Given the description of an element on the screen output the (x, y) to click on. 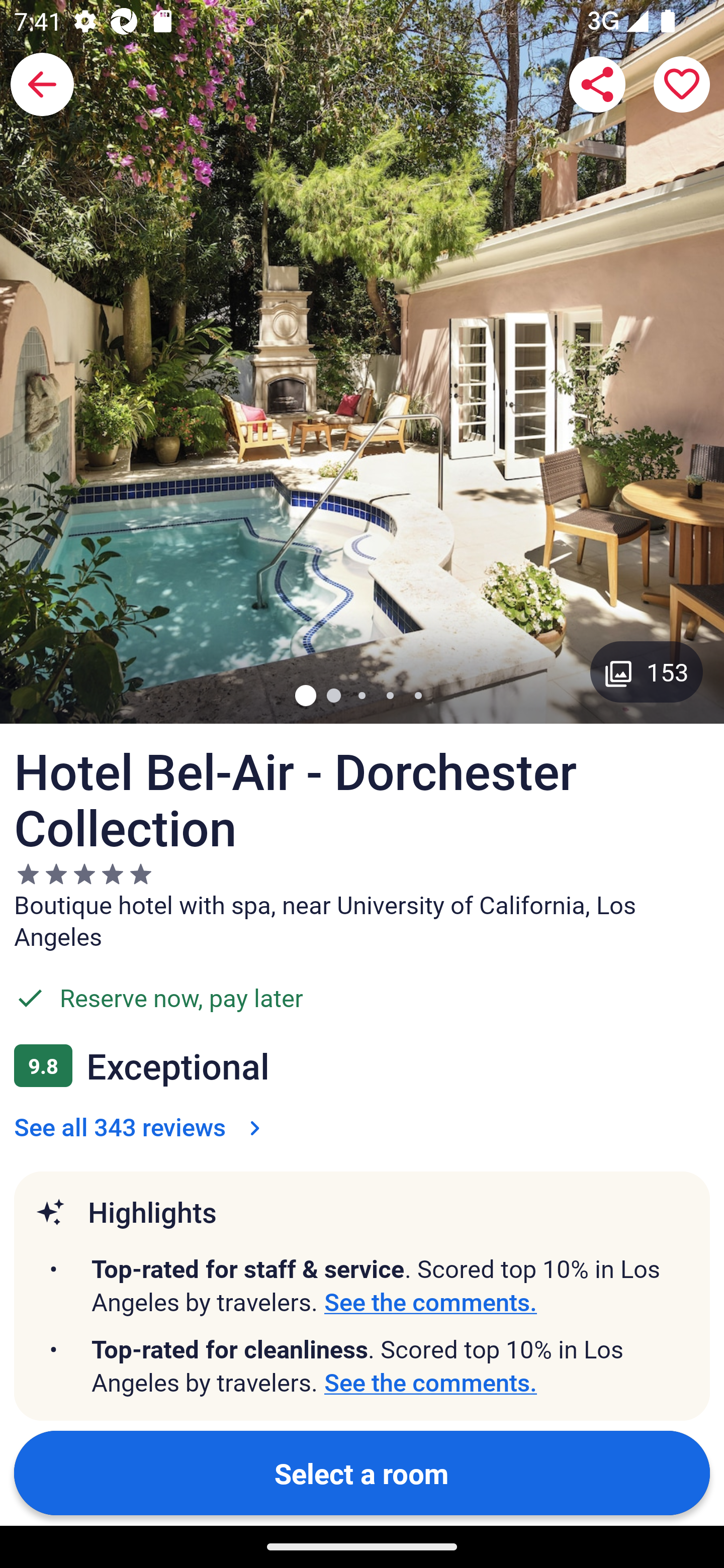
Back (42, 84)
Save property to a trip (681, 84)
Share Hotel Bel-Air - Dorchester Collection (597, 84)
Gallery button with 153 images (646, 671)
See all 343 reviews See all 343 reviews Link (140, 1127)
Select a room Button Select a room (361, 1472)
Spa (465, 1513)
